Given the description of an element on the screen output the (x, y) to click on. 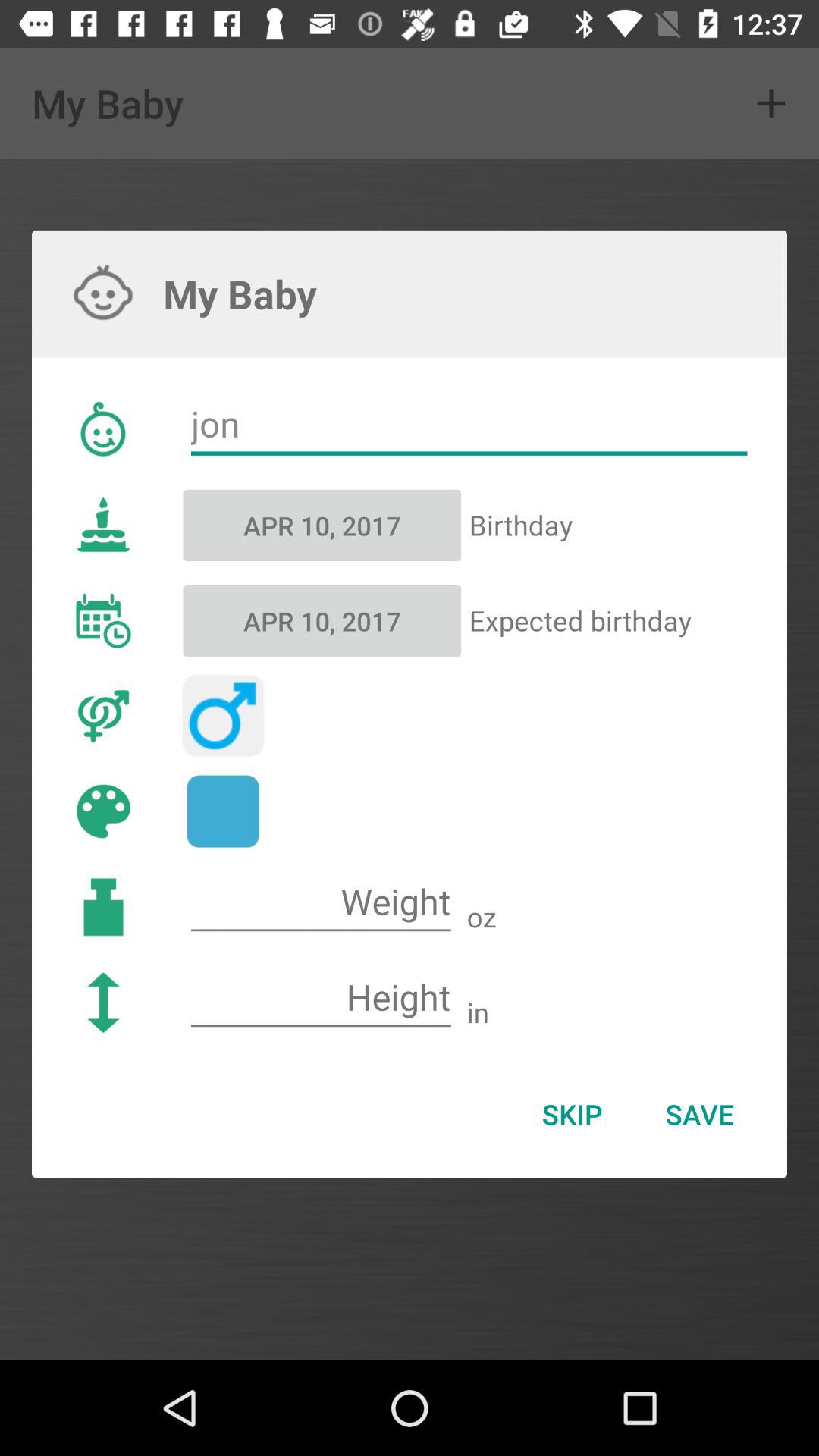
scroll until jon (469, 425)
